Given the description of an element on the screen output the (x, y) to click on. 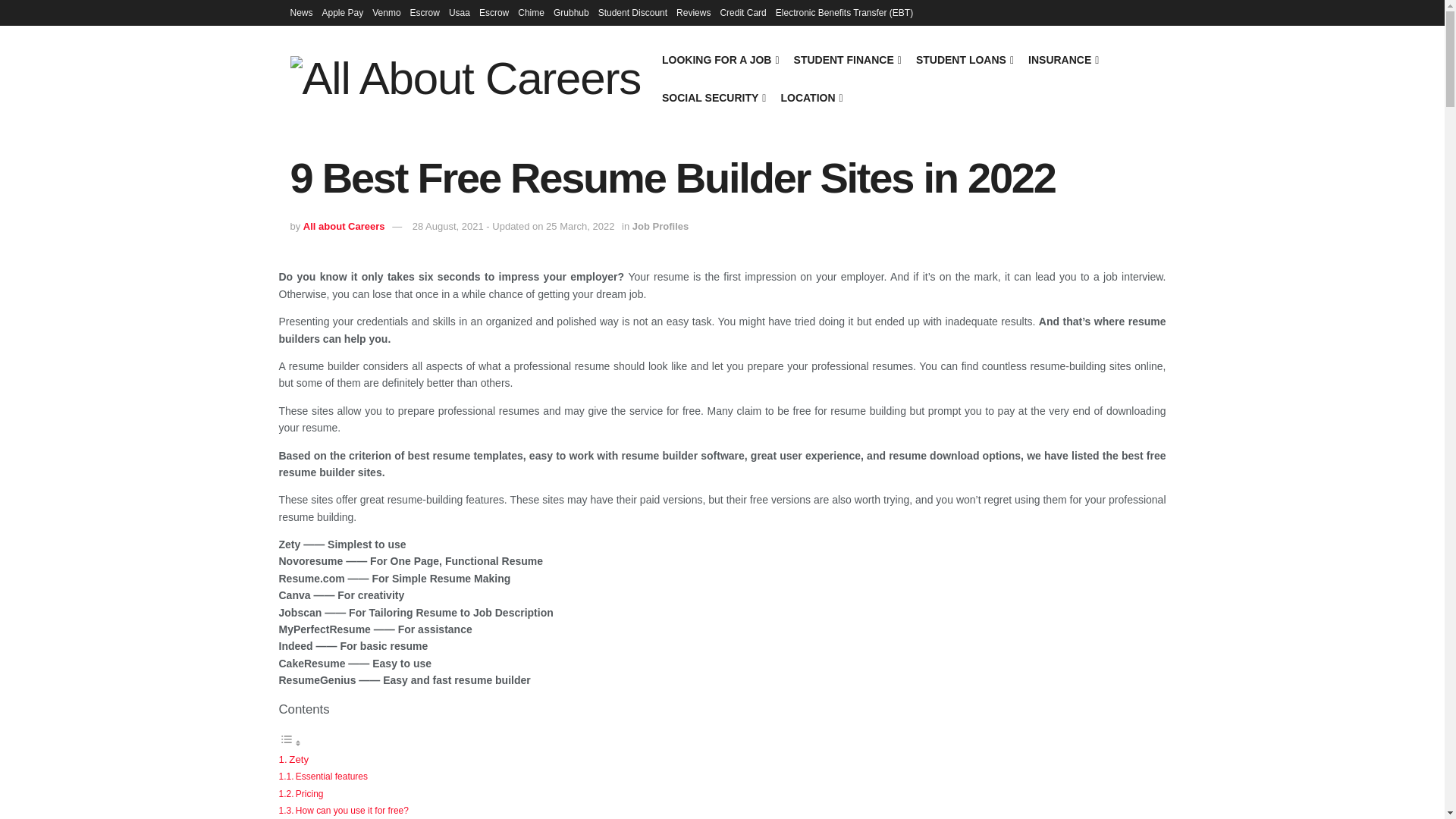
STUDENT FINANCE (846, 59)
Escrow (424, 12)
Student Discount (632, 12)
Apple Pay (342, 12)
Venmo (386, 12)
Grubhub (571, 12)
Escrow (493, 12)
Chime (531, 12)
LOOKING FOR A JOB (719, 59)
Credit Card (742, 12)
